Given the description of an element on the screen output the (x, y) to click on. 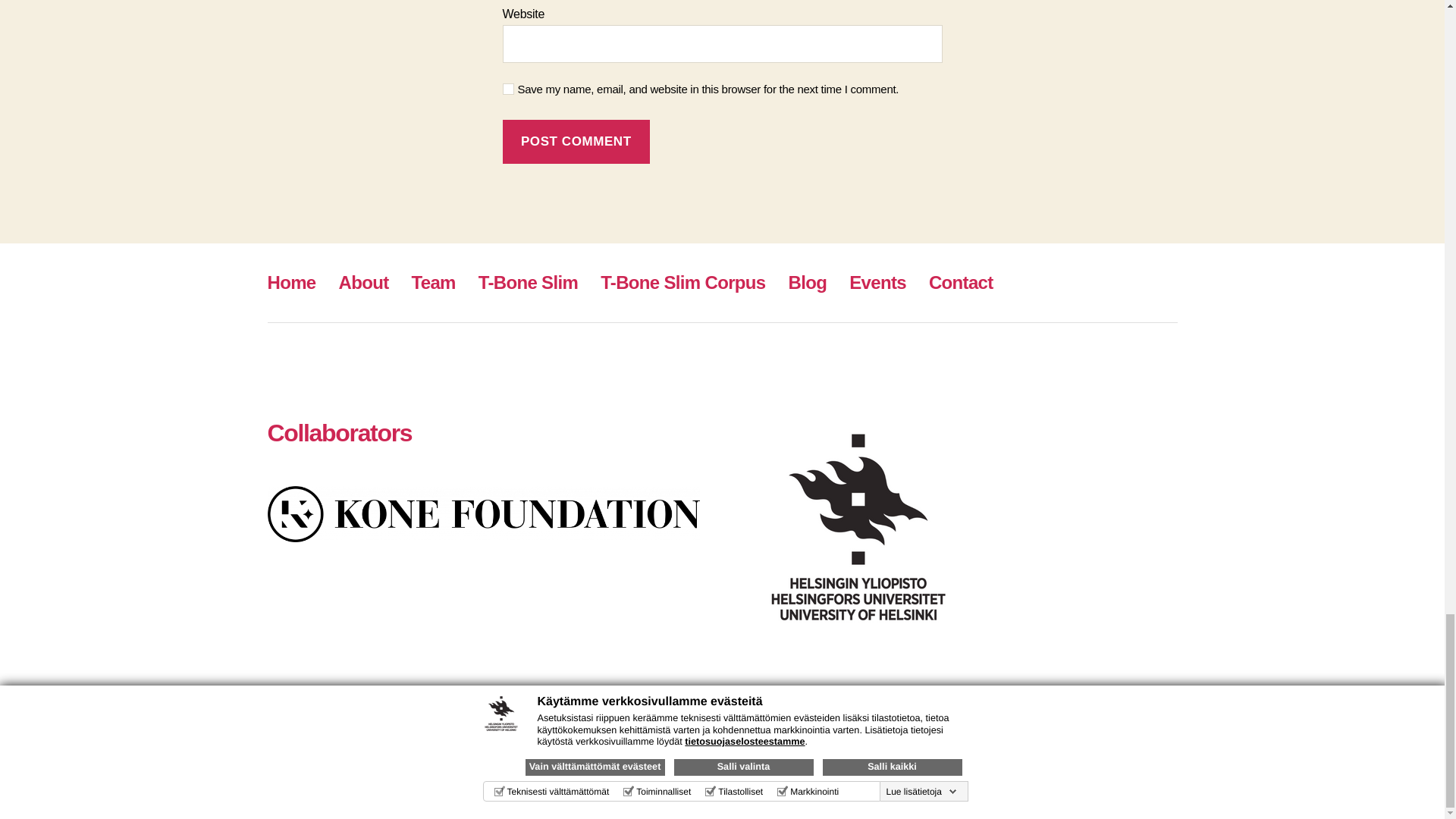
Post Comment (575, 141)
yes (507, 89)
